Given the description of an element on the screen output the (x, y) to click on. 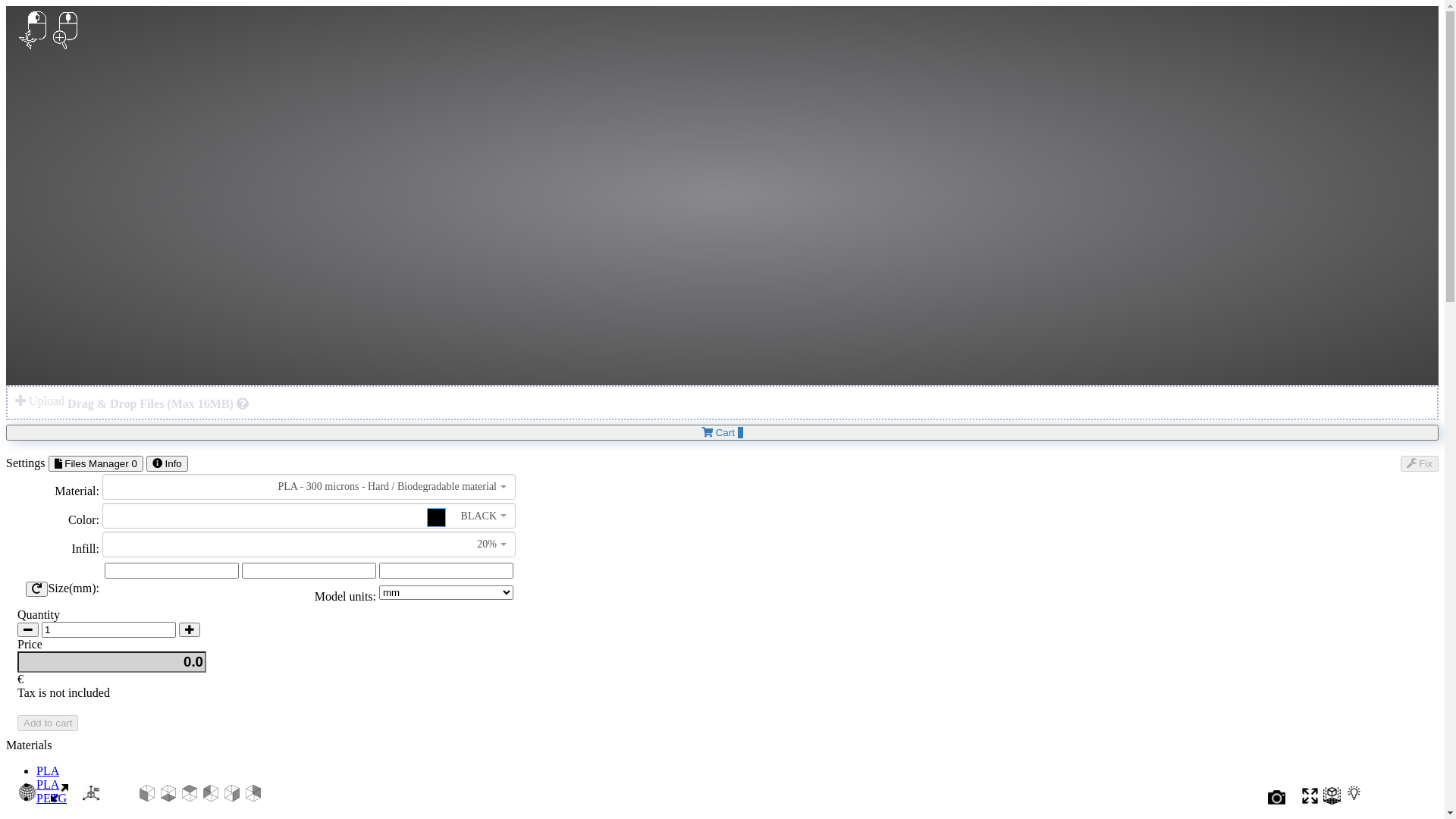
stl,obj Element type: hover (242, 403)
Dimensions Element type: hover (59, 796)
mm Element type: hover (446, 570)
PETG Element type: text (51, 797)
Fix Element type: text (1419, 463)
Right View Element type: hover (231, 796)
PLA Element type: text (47, 770)
PLA Element type: text (47, 784)
Front View Element type: hover (146, 796)
Cart 0 Element type: text (722, 432)
mm Element type: hover (308, 570)
Files Manager 0 Element type: text (95, 463)
Take Snapshot Element type: hover (1276, 799)
Wireframe Element type: hover (27, 796)
Info Element type: text (167, 463)
Fullscreen Element type: hover (1309, 799)
Bottom View Element type: hover (168, 796)
reset size Element type: hover (36, 588)
Add to cart Element type: text (47, 723)
Top View Element type: hover (189, 796)
Floor Element type: hover (1331, 799)
mm Element type: hover (171, 570)
Back View Element type: hover (252, 796)
Left View Element type: hover (210, 796)
Light Element type: hover (1353, 799)
Axes Element type: hover (91, 796)
